Given the description of an element on the screen output the (x, y) to click on. 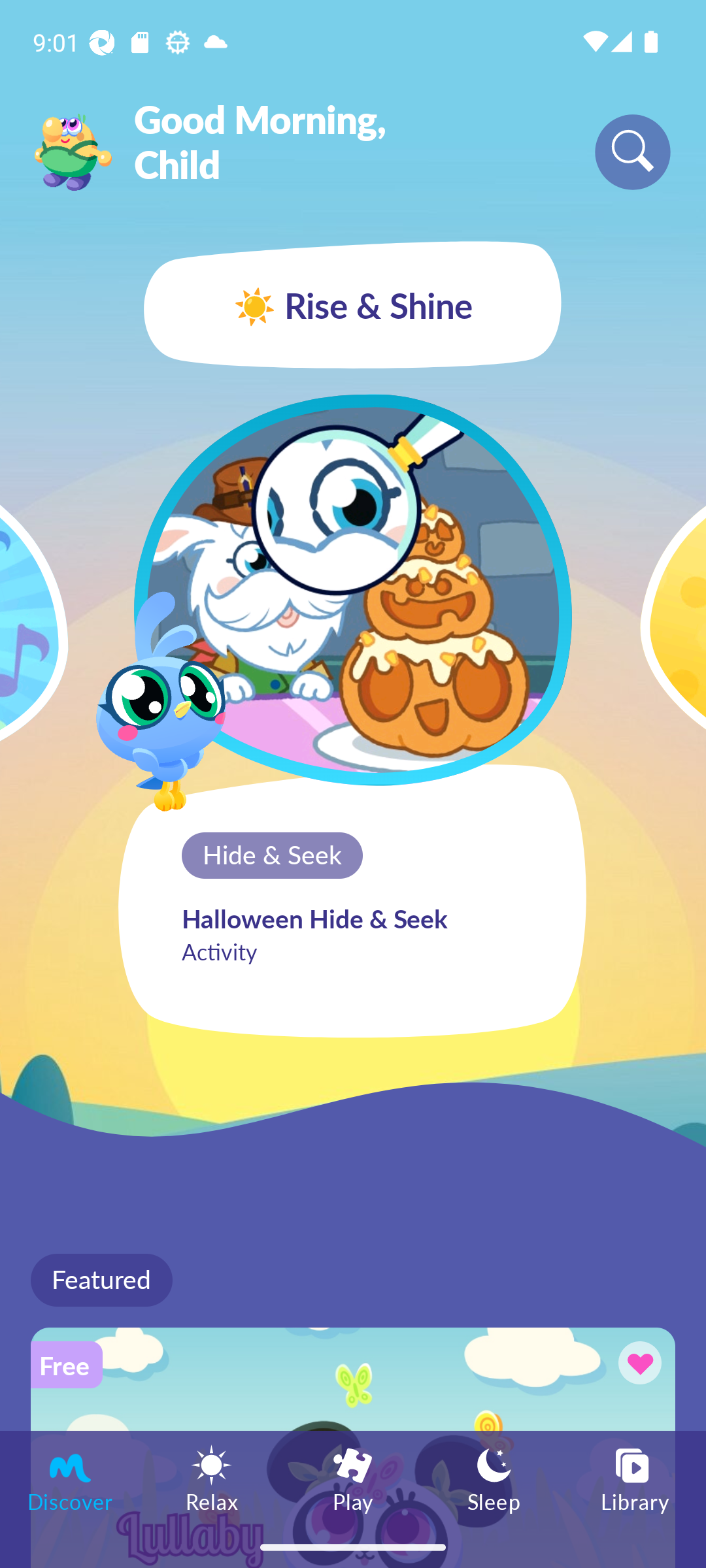
Search (632, 151)
Button (636, 1365)
Relax (211, 1478)
Play (352, 1478)
Sleep (493, 1478)
Library (635, 1478)
